Given the description of an element on the screen output the (x, y) to click on. 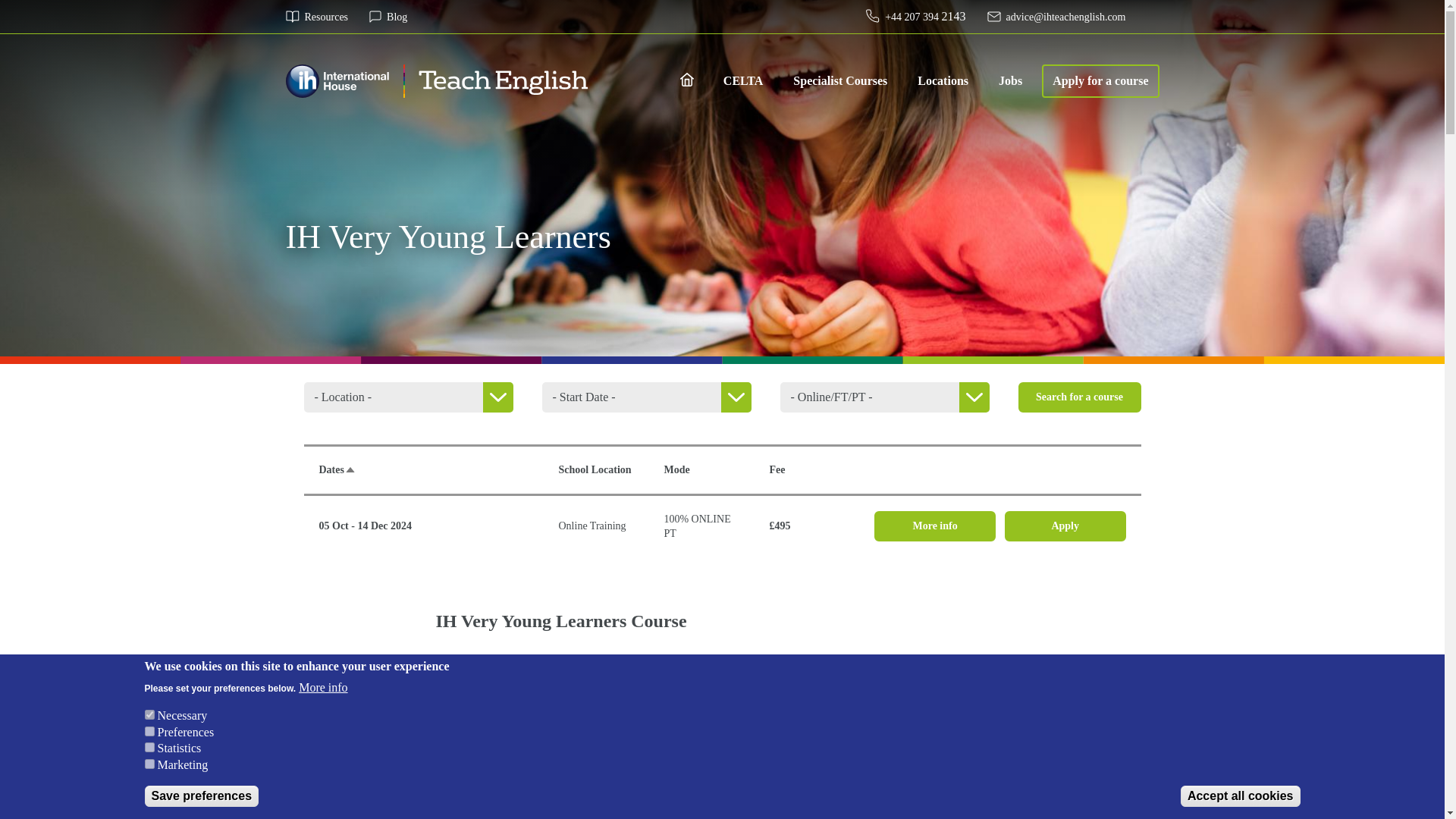
Jobs (1010, 80)
Search for a course (1078, 397)
sort by School Location (593, 469)
necessary (149, 714)
Destinations (942, 80)
commercial (149, 764)
statistical (149, 747)
preferences (149, 731)
sort by Dates (336, 469)
Home (436, 80)
